Given the description of an element on the screen output the (x, y) to click on. 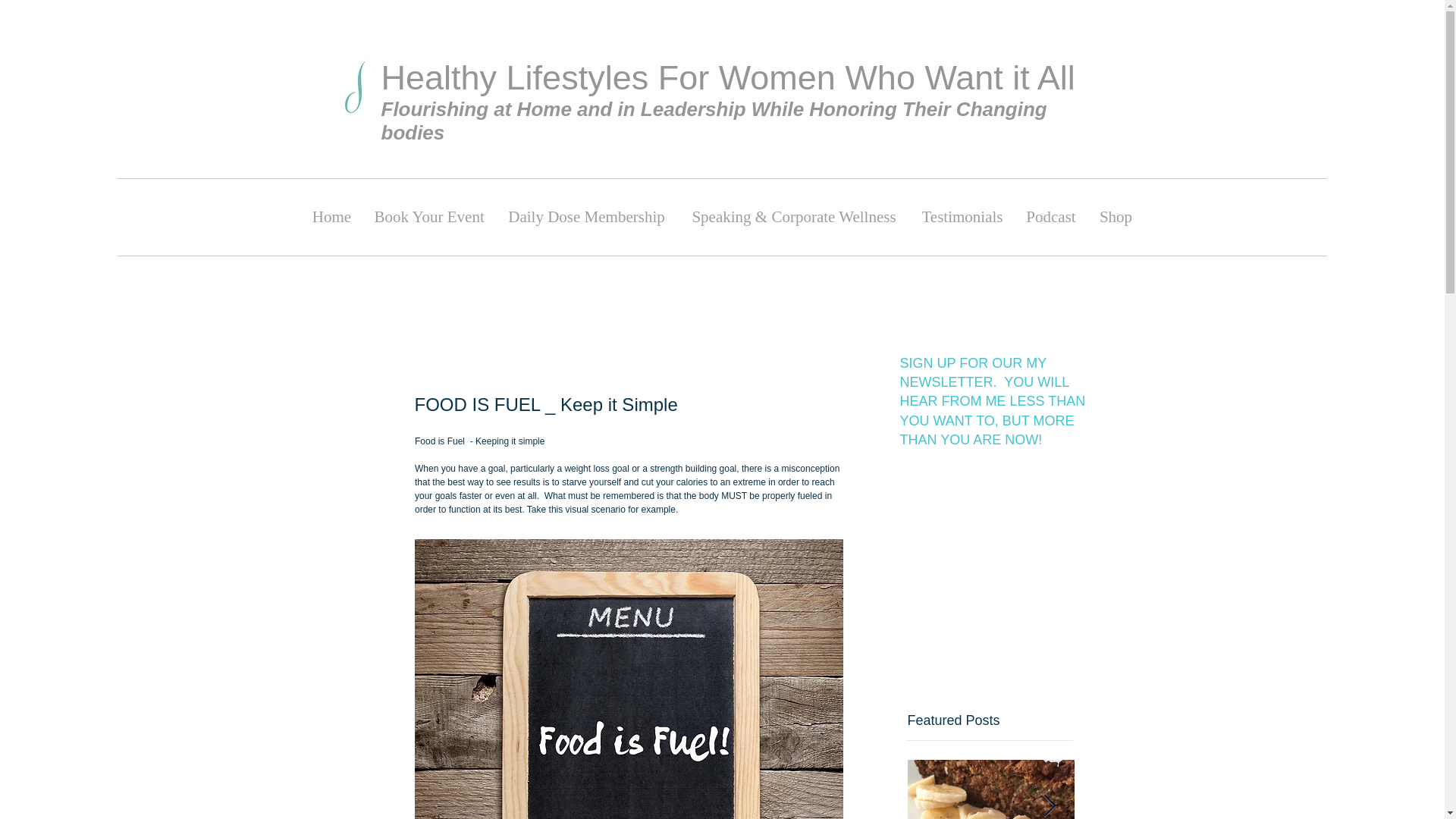
Book Your Event (428, 217)
Testimonials (961, 217)
Podcast (1050, 217)
Daily Dose Membership (587, 217)
